Given the description of an element on the screen output the (x, y) to click on. 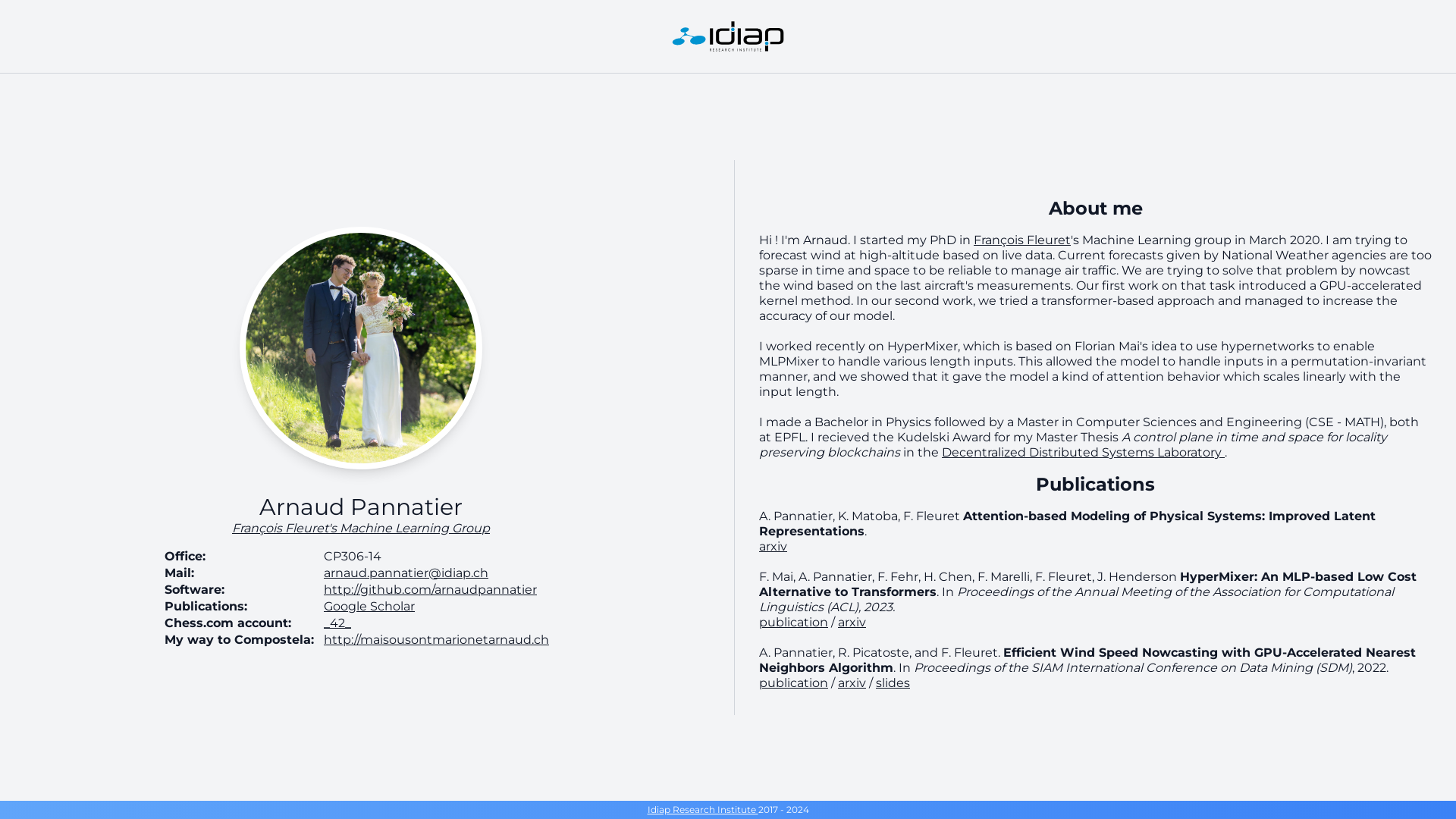
arxiv Element type: text (851, 681)
_42_ Element type: text (337, 622)
http://maisousontmarionetarnaud.ch Element type: text (436, 639)
Idiap Research Institute Element type: text (702, 809)
slides Element type: text (892, 681)
arnaud.pannatier@idiap.ch Element type: text (405, 572)
http://github.com/arnaudpannatier Element type: text (429, 589)
arxiv Element type: text (851, 621)
publication Element type: text (793, 681)
Google Scholar Element type: text (368, 606)
publication Element type: text (793, 621)
arxiv Element type: text (773, 545)
Decentralized Distributed Systems Laboratory Element type: text (1082, 451)
